Given the description of an element on the screen output the (x, y) to click on. 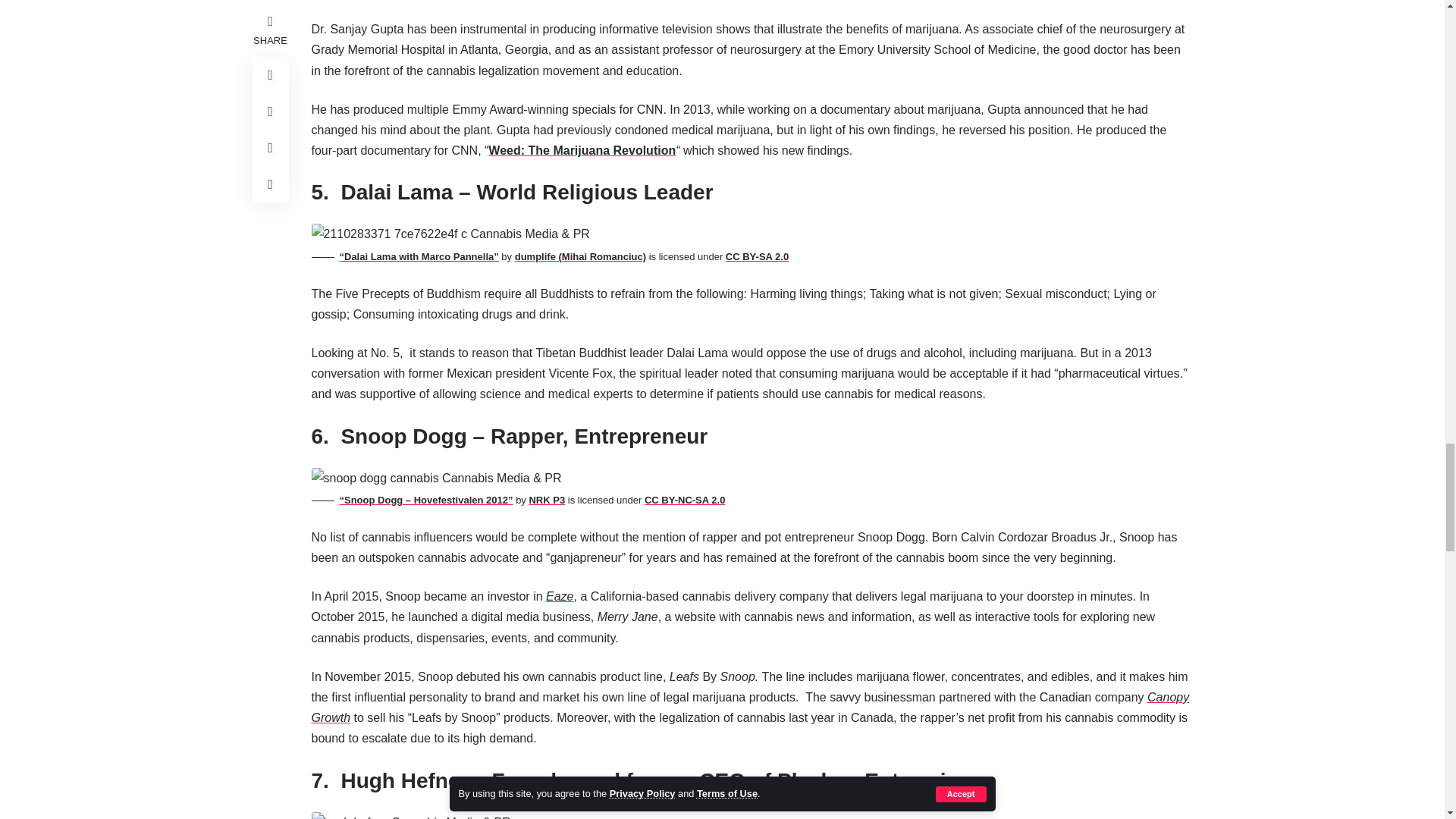
10 Genius Minds That Smoke Marijuana (411, 815)
10 Genius Minds That Smoke Marijuana (435, 477)
10 Genius Minds That Smoke Marijuana (450, 233)
